Given the description of an element on the screen output the (x, y) to click on. 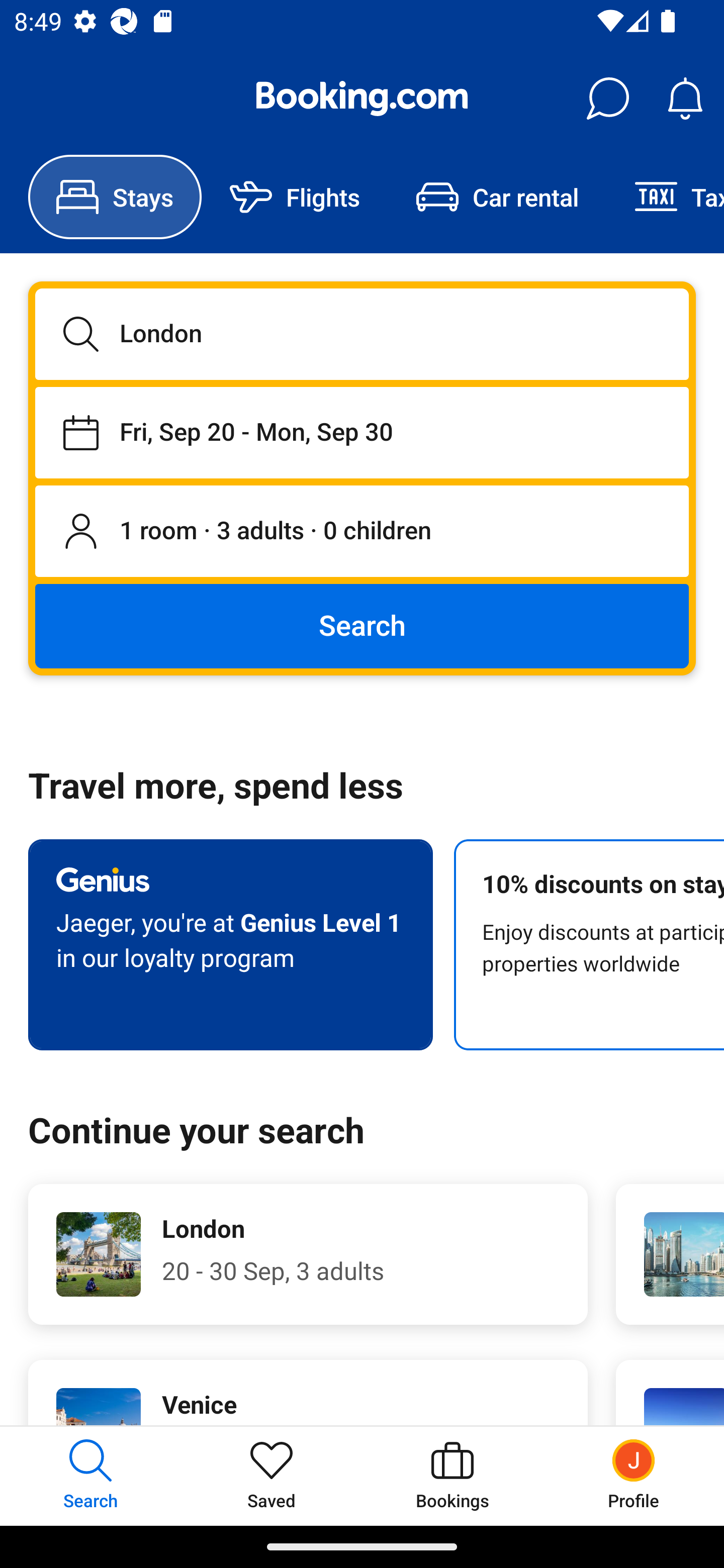
Messages (607, 98)
Notifications (685, 98)
Stays (114, 197)
Flights (294, 197)
Car rental (497, 197)
Taxi (665, 197)
London (361, 333)
Staying from Fri, Sep 20 until Mon, Sep 30 (361, 432)
1 room, 3 adults, 0 children (361, 531)
Search (361, 625)
London 20 - 30 Sep, 3 adults (307, 1253)
Saved (271, 1475)
Bookings (452, 1475)
Profile (633, 1475)
